Given the description of an element on the screen output the (x, y) to click on. 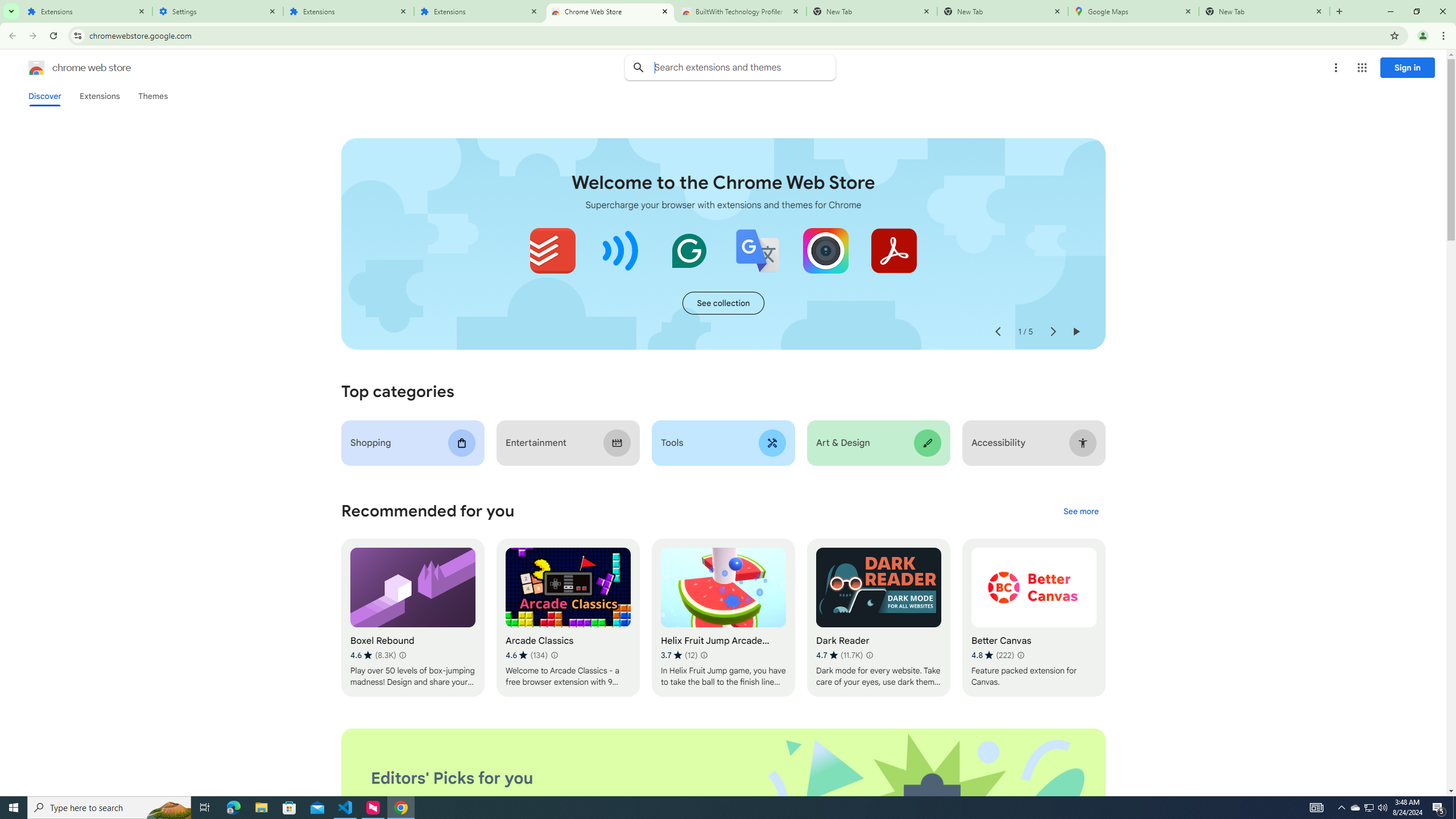
Previous slide (997, 331)
Settings (217, 11)
New Tab (1002, 11)
Extensions (479, 11)
Average rating 3.7 out of 5 stars. 12 ratings. (679, 655)
Shopping (412, 443)
BuiltWith Technology Profiler - Chrome Web Store (740, 11)
Boxel Rebound (412, 617)
Average rating 4.7 out of 5 stars. 11.7K ratings. (839, 655)
Arcade Classics (567, 617)
Volume Master (620, 250)
New Tab (1264, 11)
